Given the description of an element on the screen output the (x, y) to click on. 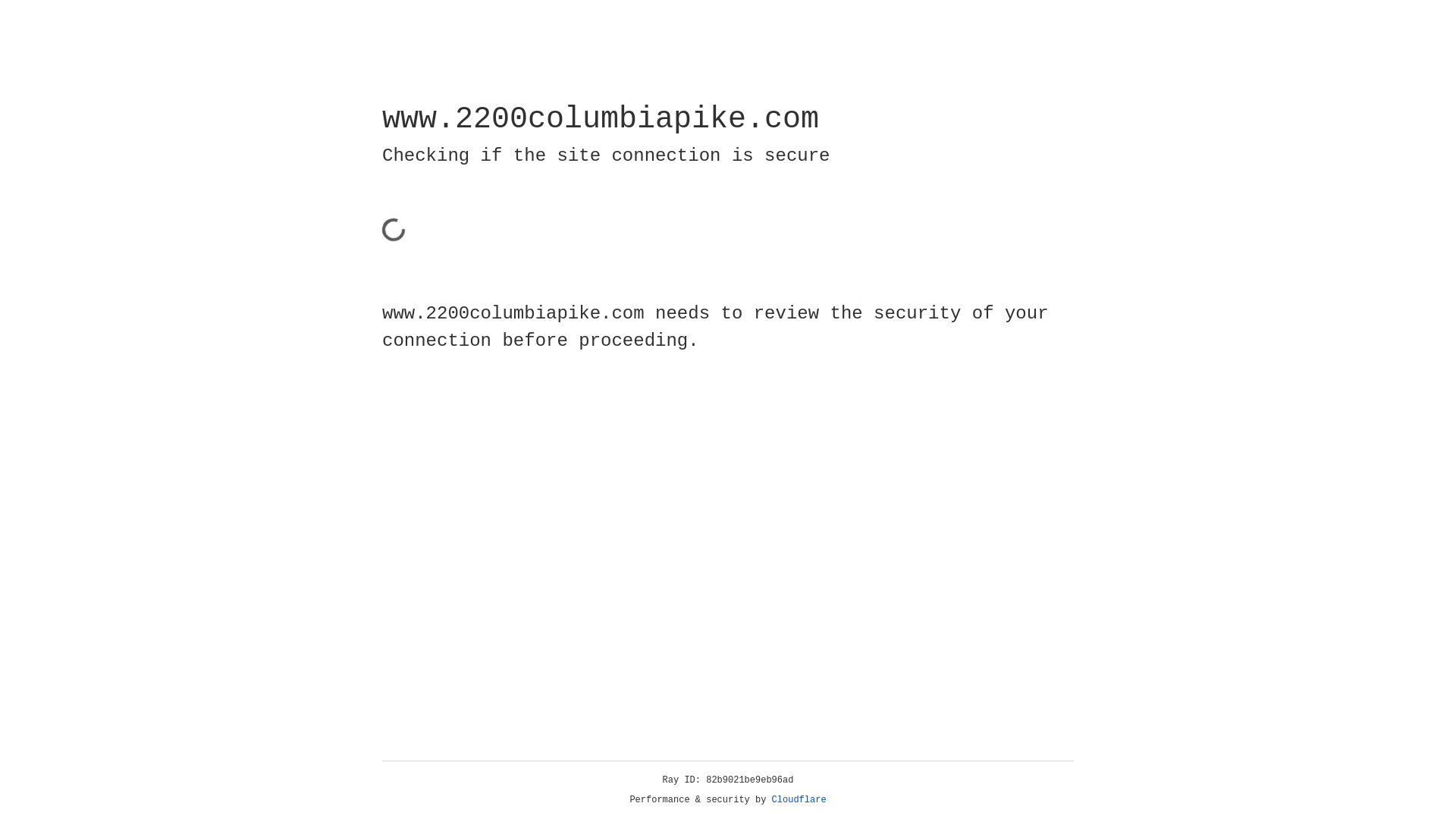
Cloudflare Element type: text (798, 799)
